Given the description of an element on the screen output the (x, y) to click on. 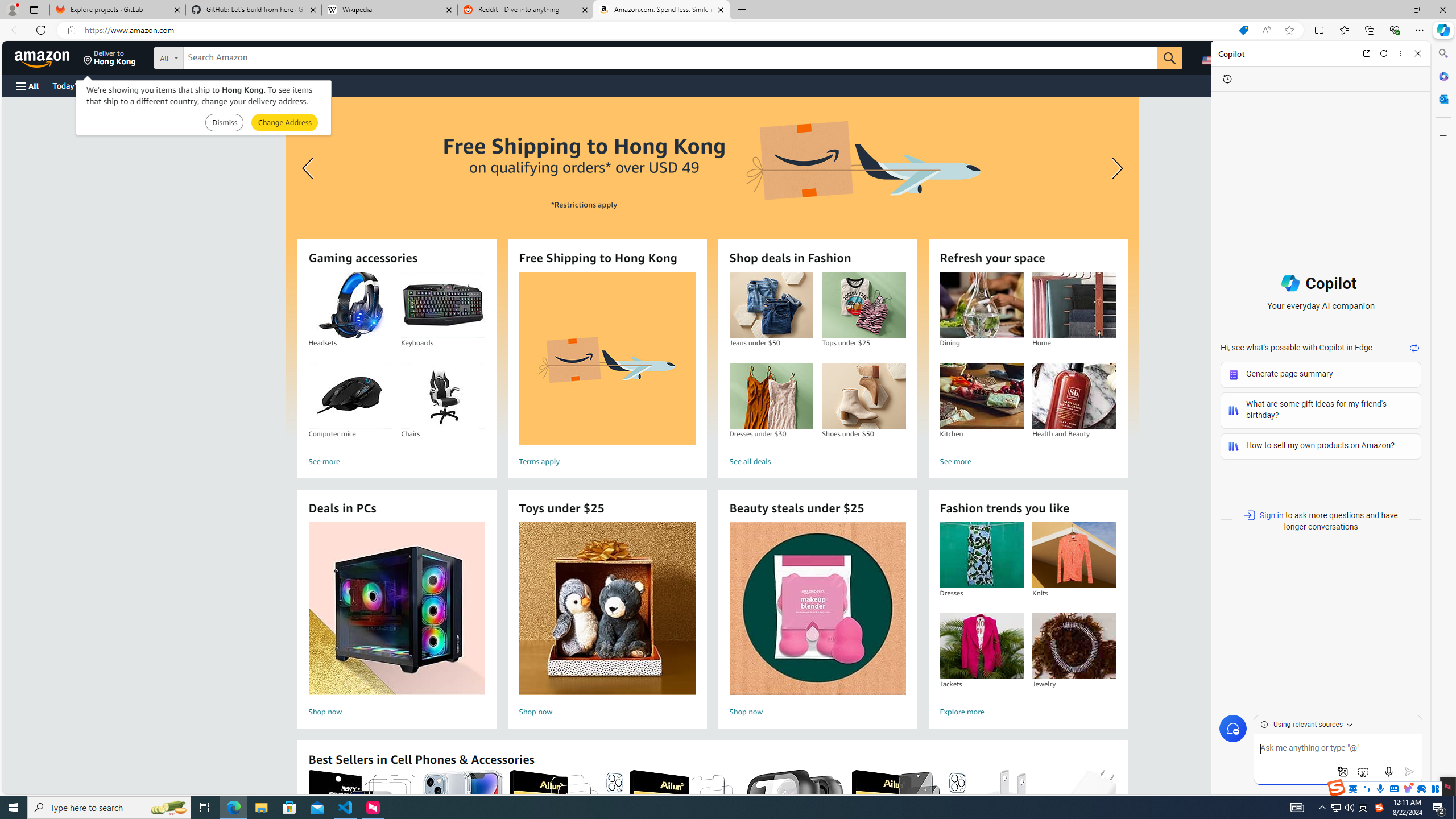
Wikipedia (390, 9)
Computer mice (350, 395)
Search in (210, 56)
Chairs (443, 395)
Explore more (1027, 712)
Deliver to Hong Kong (109, 57)
Go (1169, 57)
Dresses (981, 555)
Open Menu (26, 86)
